Given the description of an element on the screen output the (x, y) to click on. 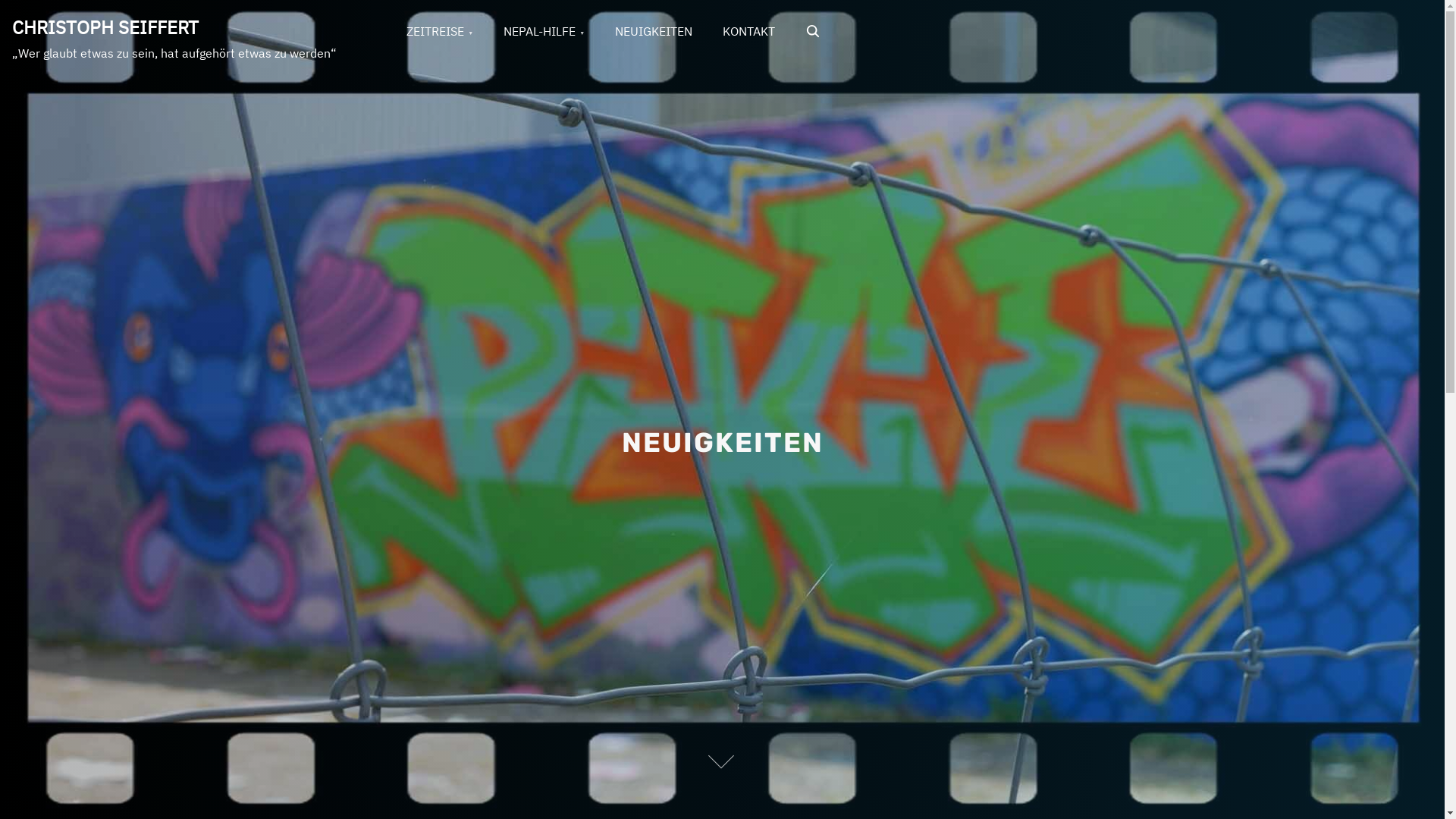
KONTAKT Element type: text (748, 31)
Search
Search Element type: text (813, 32)
NEUIGKEITEN Element type: text (653, 31)
ZEITREISE Element type: text (439, 31)
NEPAL-HILFE Element type: text (543, 31)
CHRISTOPH SEIFFERT Element type: text (105, 27)
